Given the description of an element on the screen output the (x, y) to click on. 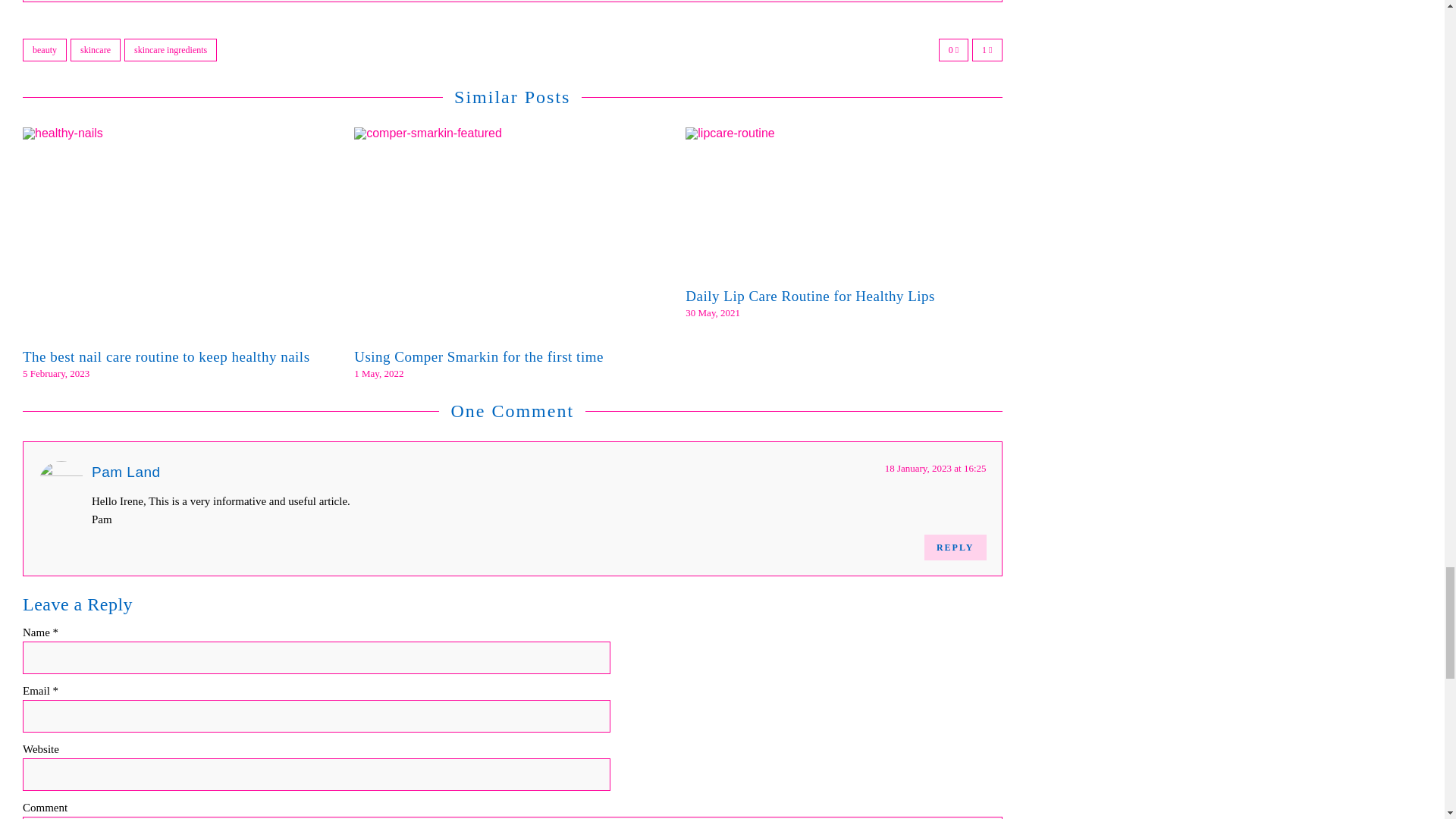
Like (953, 49)
